Given the description of an element on the screen output the (x, y) to click on. 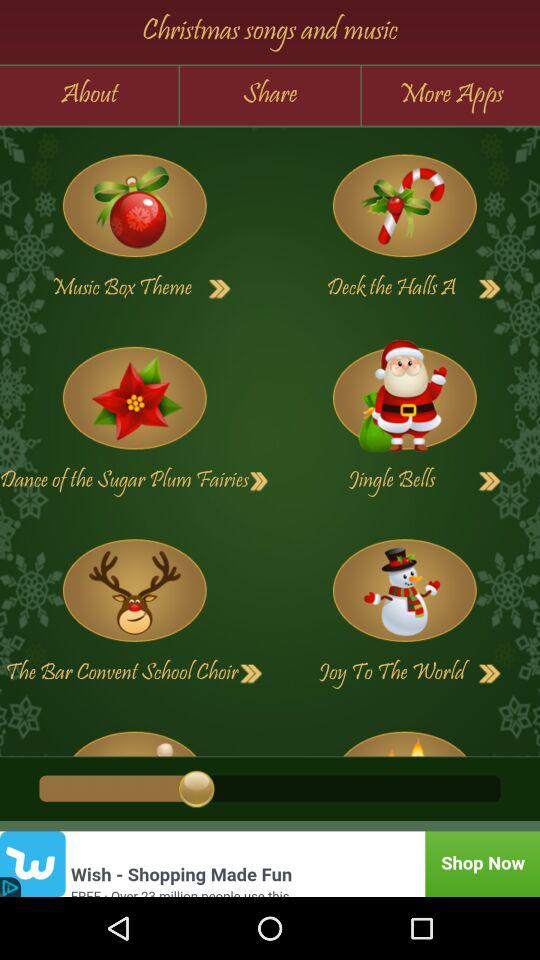
play this song (134, 736)
